Given the description of an element on the screen output the (x, y) to click on. 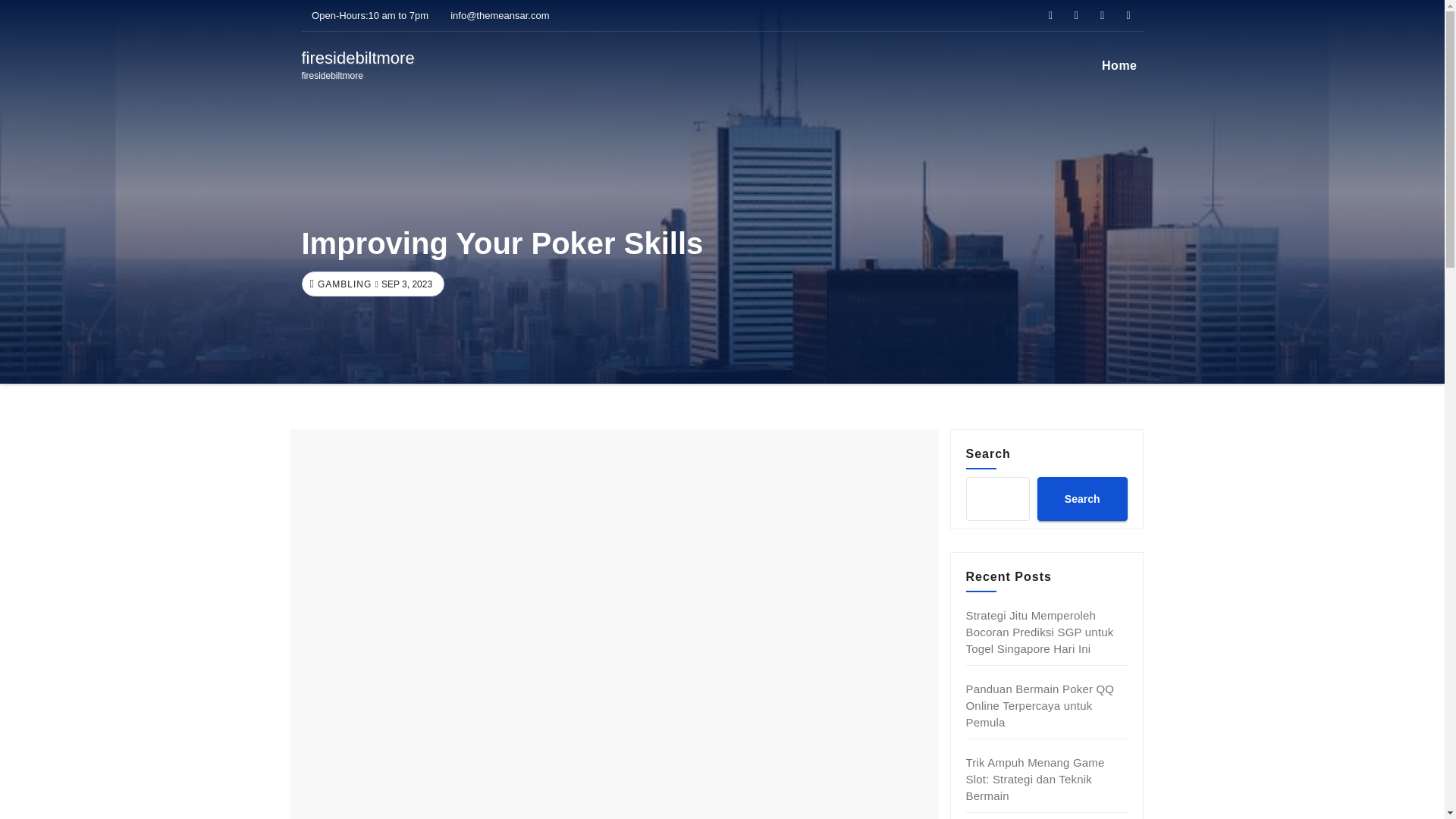
Search (357, 65)
Trik Ampuh Menang Game Slot: Strategi dan Teknik Bermain (1081, 498)
GAMBLING (1035, 778)
Panduan Bermain Poker QQ Online Terpercaya untuk Pemula (342, 284)
Open-Hours:10 am to 7pm (1040, 705)
